Given the description of an element on the screen output the (x, y) to click on. 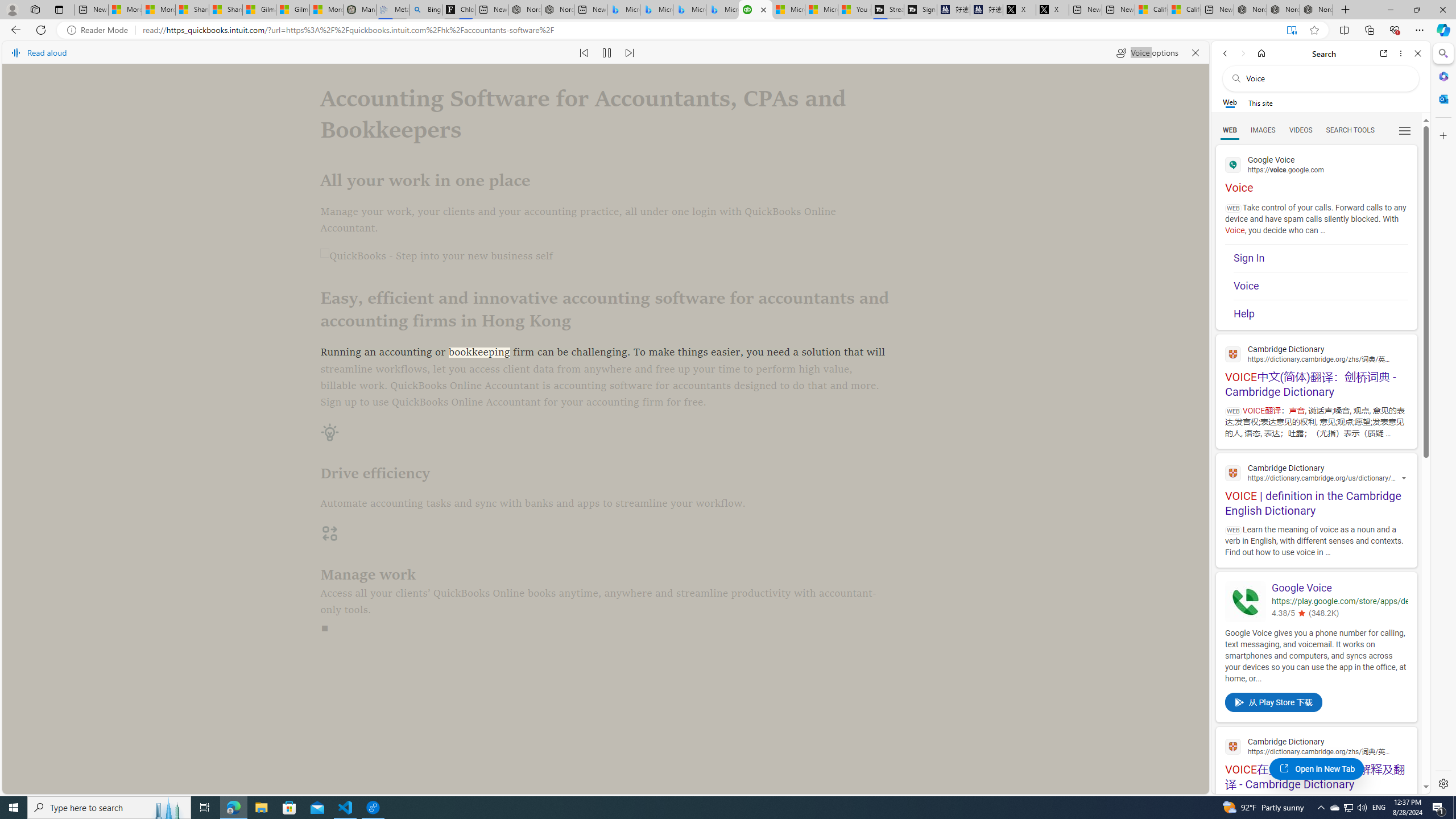
4.38/5(348.2K) (1339, 613)
Streaming Coverage | T3 (887, 9)
Nordace - Best Sellers (1249, 9)
Shanghai, China weather forecast | Microsoft Weather (225, 9)
Microsoft Start Sports (788, 9)
App bar (728, 29)
Class: b_serphb (1404, 130)
Reader Mode (100, 29)
Bing Real Estate - Home sales and rental listings (425, 9)
Read previous paragraph (583, 52)
Gilma and Hector both pose tropical trouble for Hawaii (292, 9)
